Given the description of an element on the screen output the (x, y) to click on. 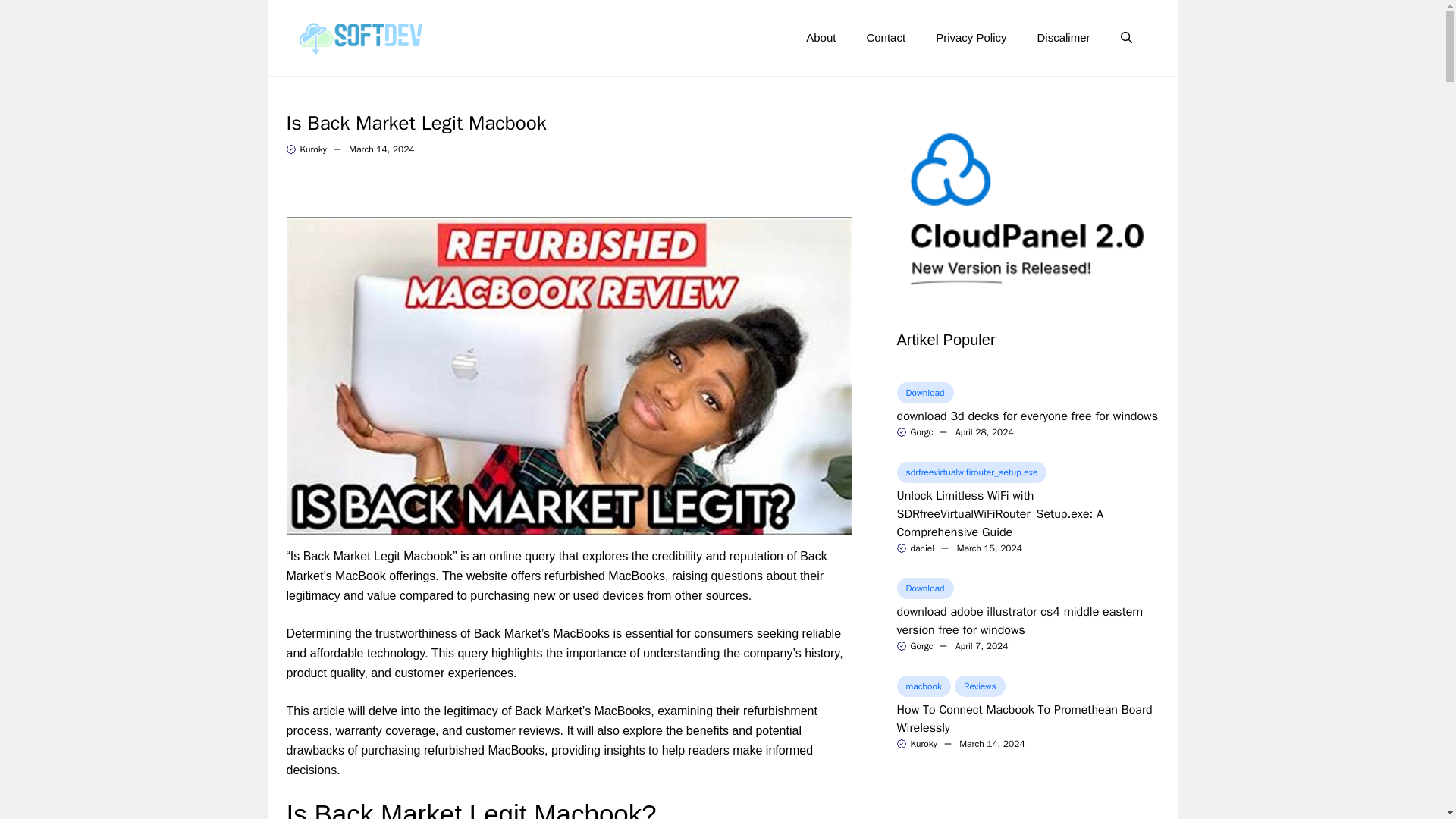
About (820, 37)
cloudpanel (1026, 211)
Contact (885, 37)
Discalimer (1063, 37)
Kuroky (312, 149)
Privacy Policy (971, 37)
